Given the description of an element on the screen output the (x, y) to click on. 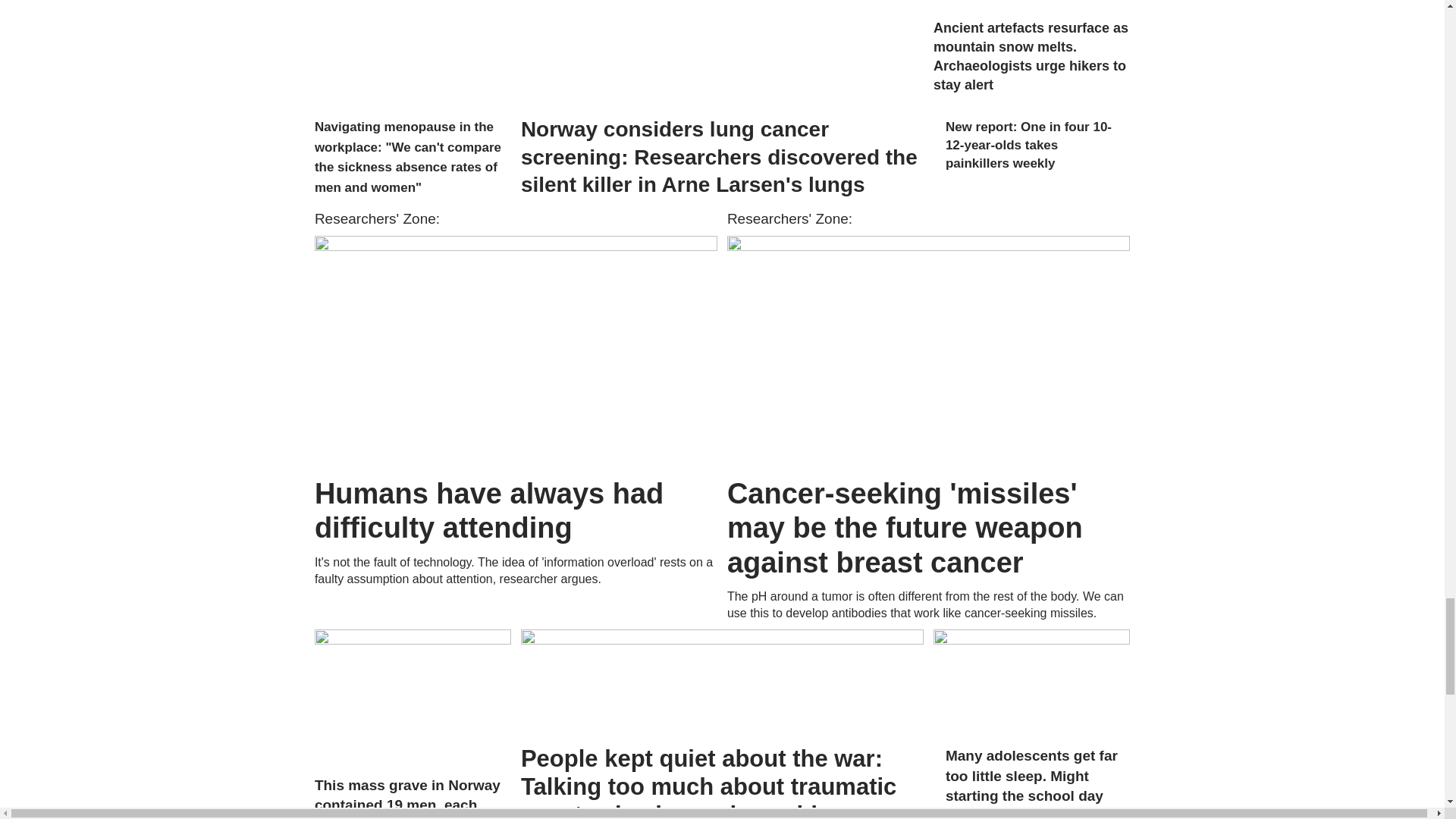
Humans have always had difficulty attending (515, 350)
